Given the description of an element on the screen output the (x, y) to click on. 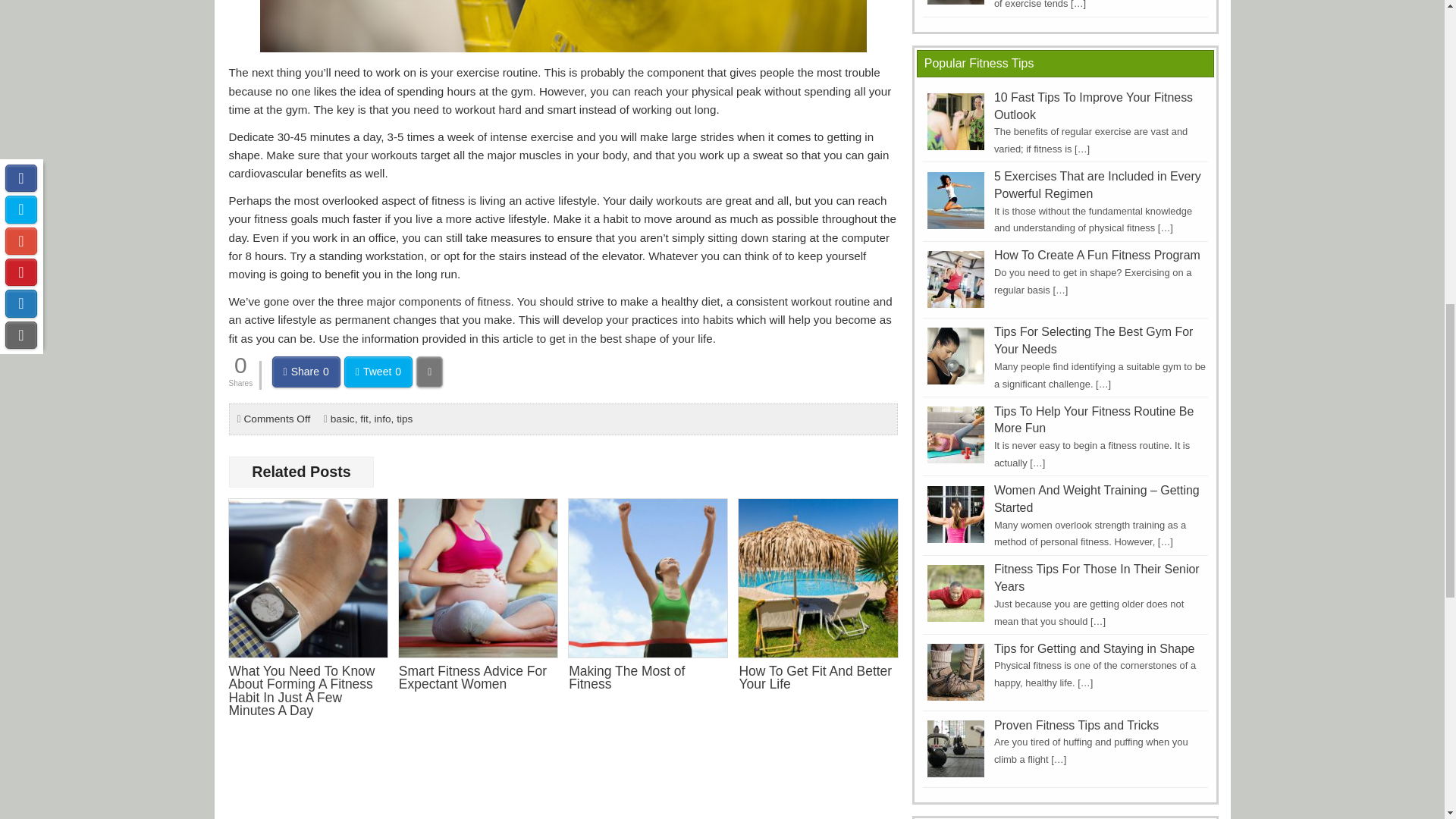
Share On Facebook (306, 371)
Tweet0 (377, 371)
Tweet on Twitter (377, 371)
basic (342, 419)
Share0 (306, 371)
